Given the description of an element on the screen output the (x, y) to click on. 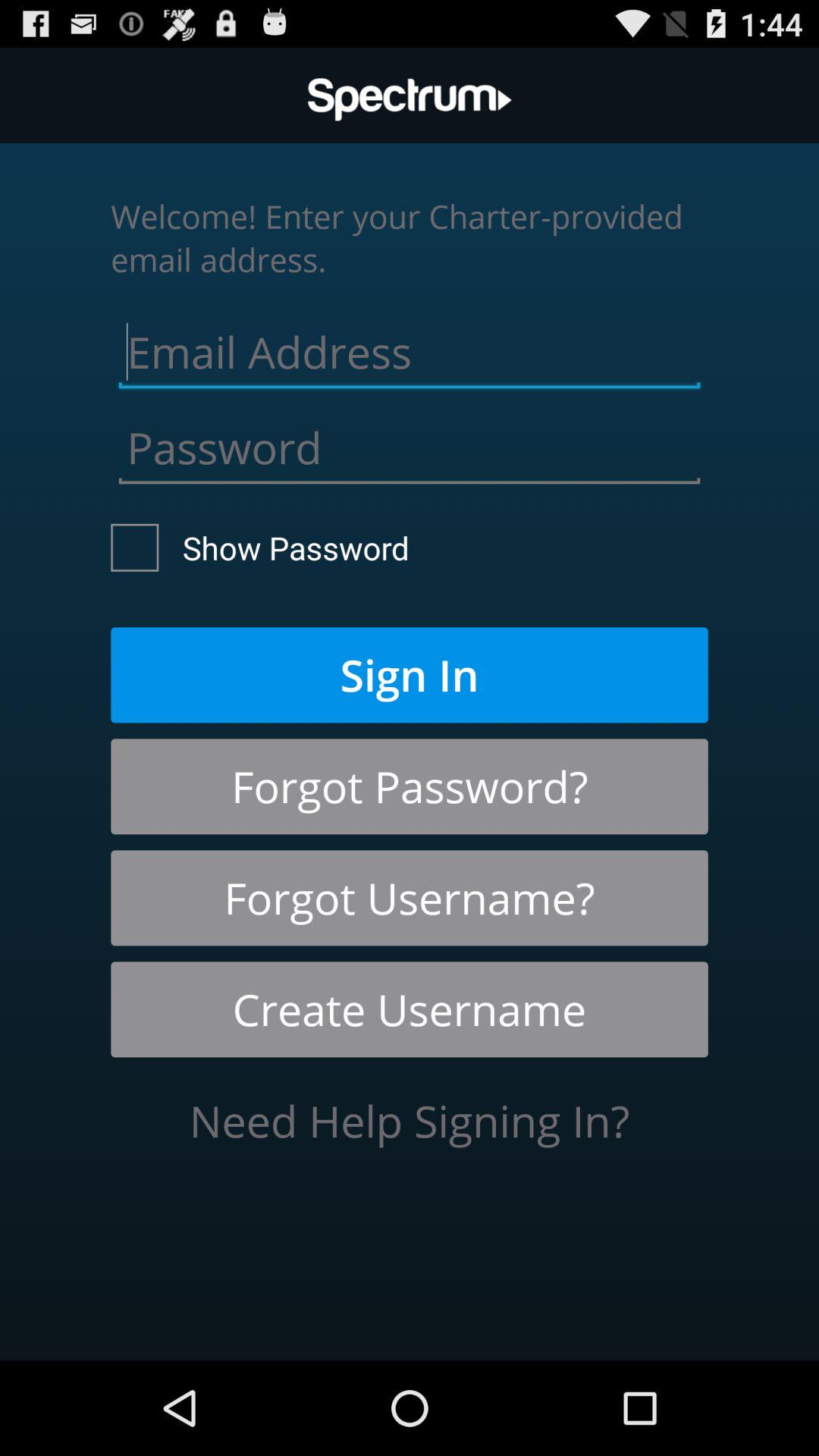
press the icon above forgot password? item (409, 674)
